Given the description of an element on the screen output the (x, y) to click on. 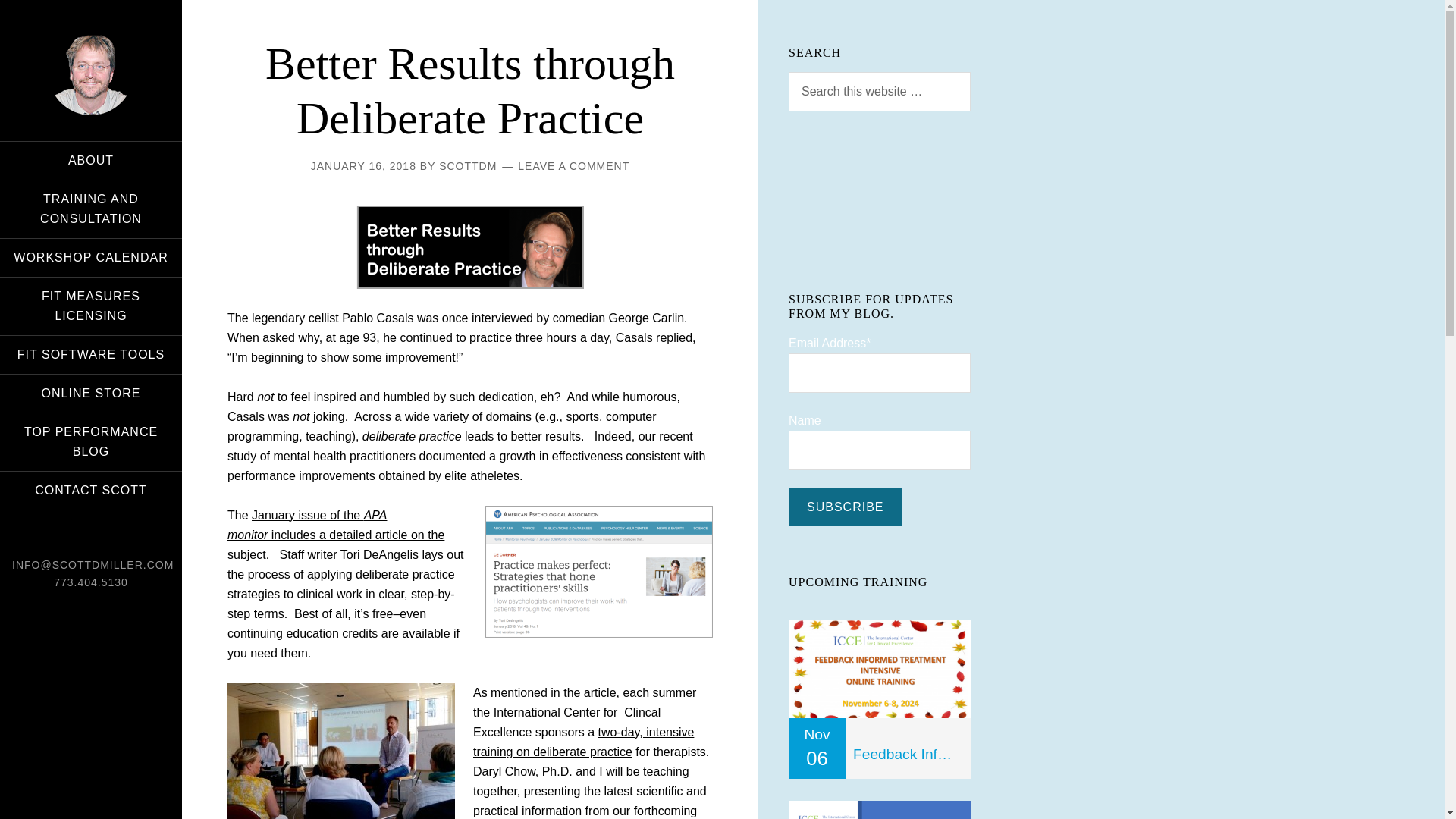
TOP PERFORMANCE BLOG (91, 441)
Subscribe (845, 507)
WORKSHOP CALENDAR (91, 257)
SCOTTDM (467, 165)
LEAVE A COMMENT (573, 165)
ABOUT (91, 160)
CONTACT SCOTT (91, 490)
FIT SOFTWARE TOOLS (91, 354)
two-day, intensive training on deliberate practice (583, 741)
